Given the description of an element on the screen output the (x, y) to click on. 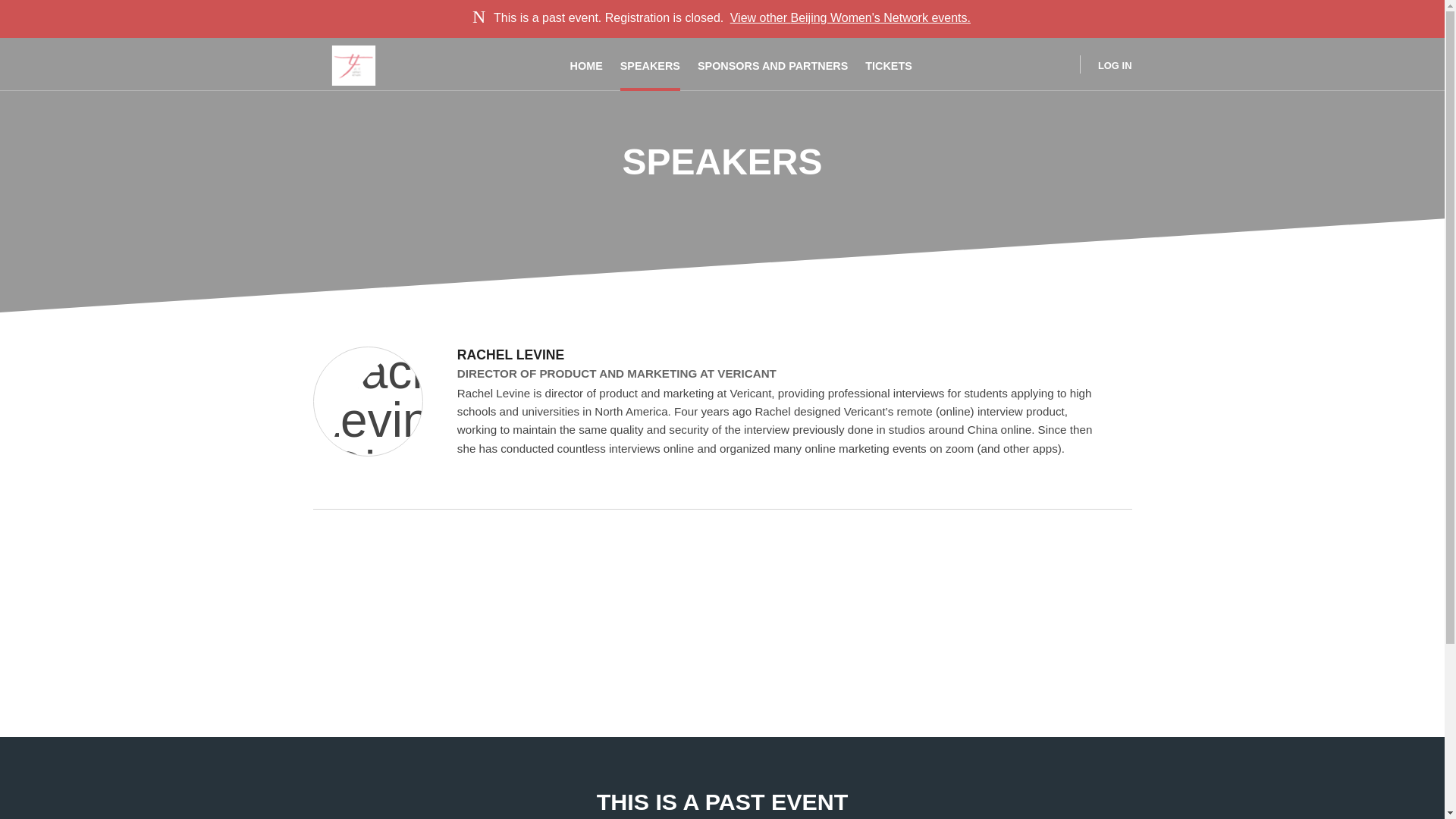
View other Beijing Women's Network events. (850, 17)
SPEAKERS (649, 63)
LOG IN (1105, 63)
Sign in (1105, 63)
SPONSORS AND PARTNERS (772, 63)
